Given the description of an element on the screen output the (x, y) to click on. 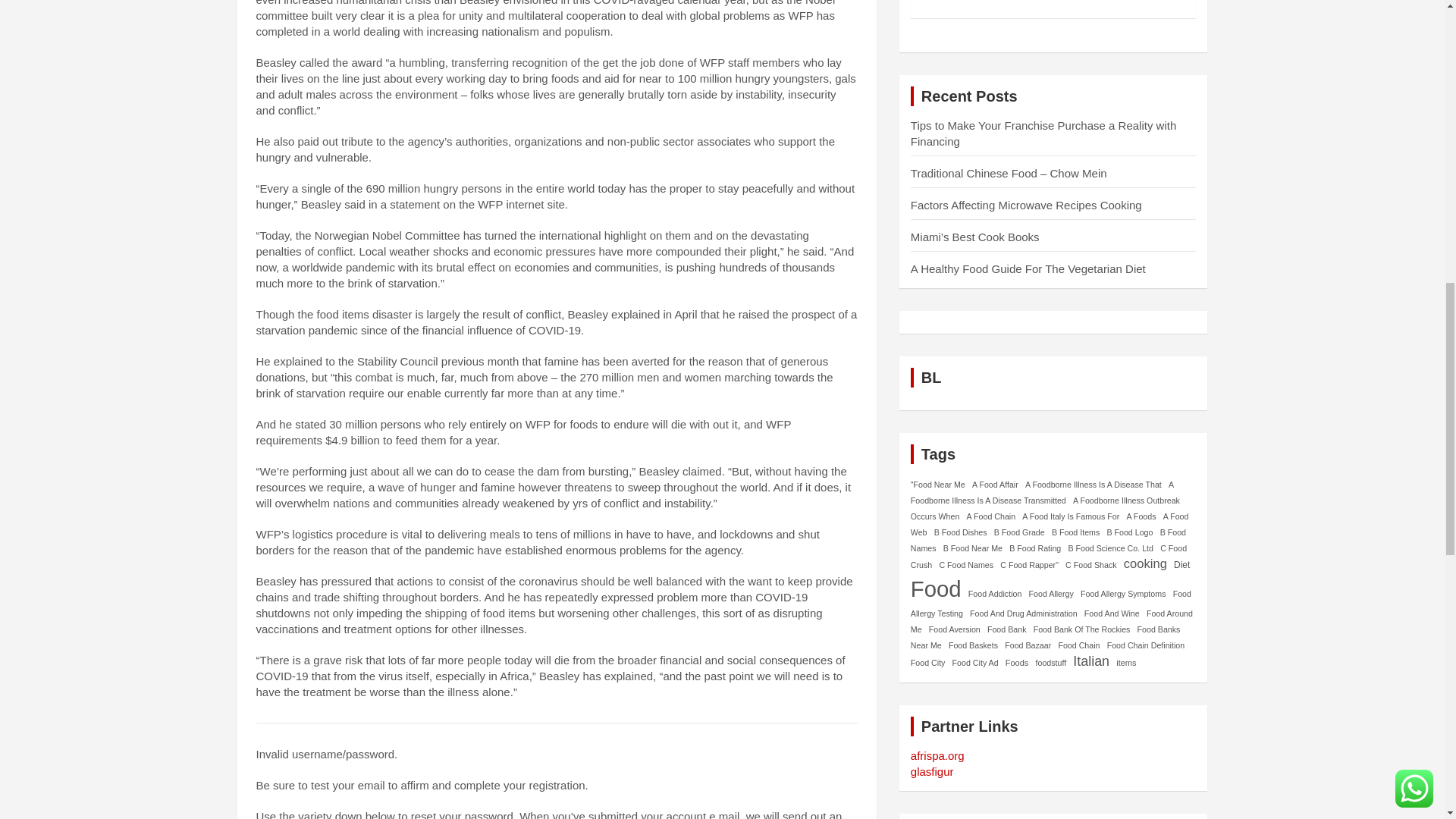
Factors Affecting Microwave Recipes Cooking (1026, 205)
"Food Near Me (938, 484)
A Foodborne Illness Is A Disease That (1093, 484)
A Healthy Food Guide For The Vegetarian Diet (1028, 268)
A Food Affair (994, 484)
